Given the description of an element on the screen output the (x, y) to click on. 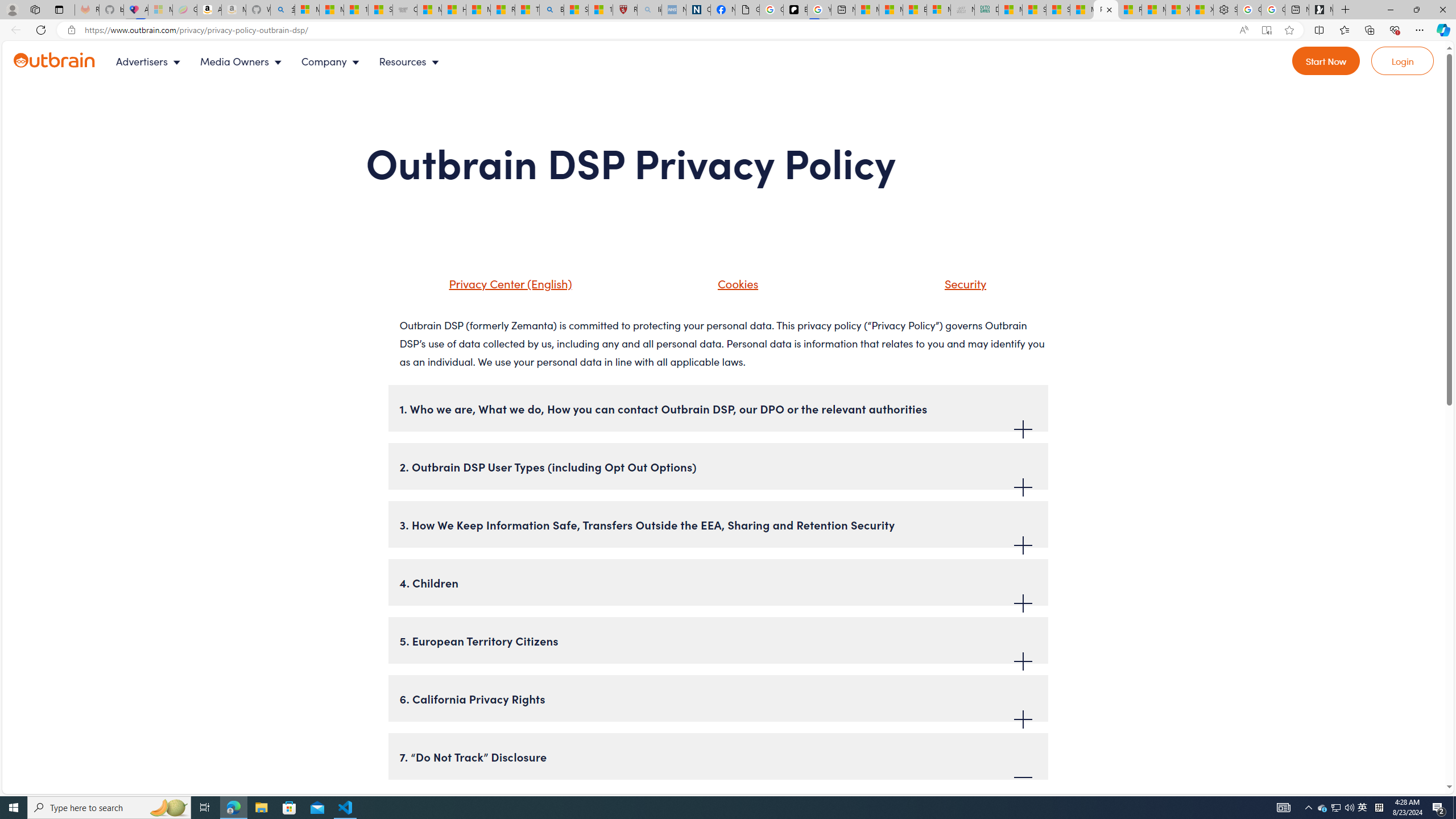
Cookies (723, 287)
Privacy Center (English) (507, 282)
Main Navigation (287, 61)
Asthma Inhalers: Names and Types (135, 9)
Advertisers (151, 61)
Entertainment - MSN (914, 9)
Go to Register (1325, 60)
